Given the description of an element on the screen output the (x, y) to click on. 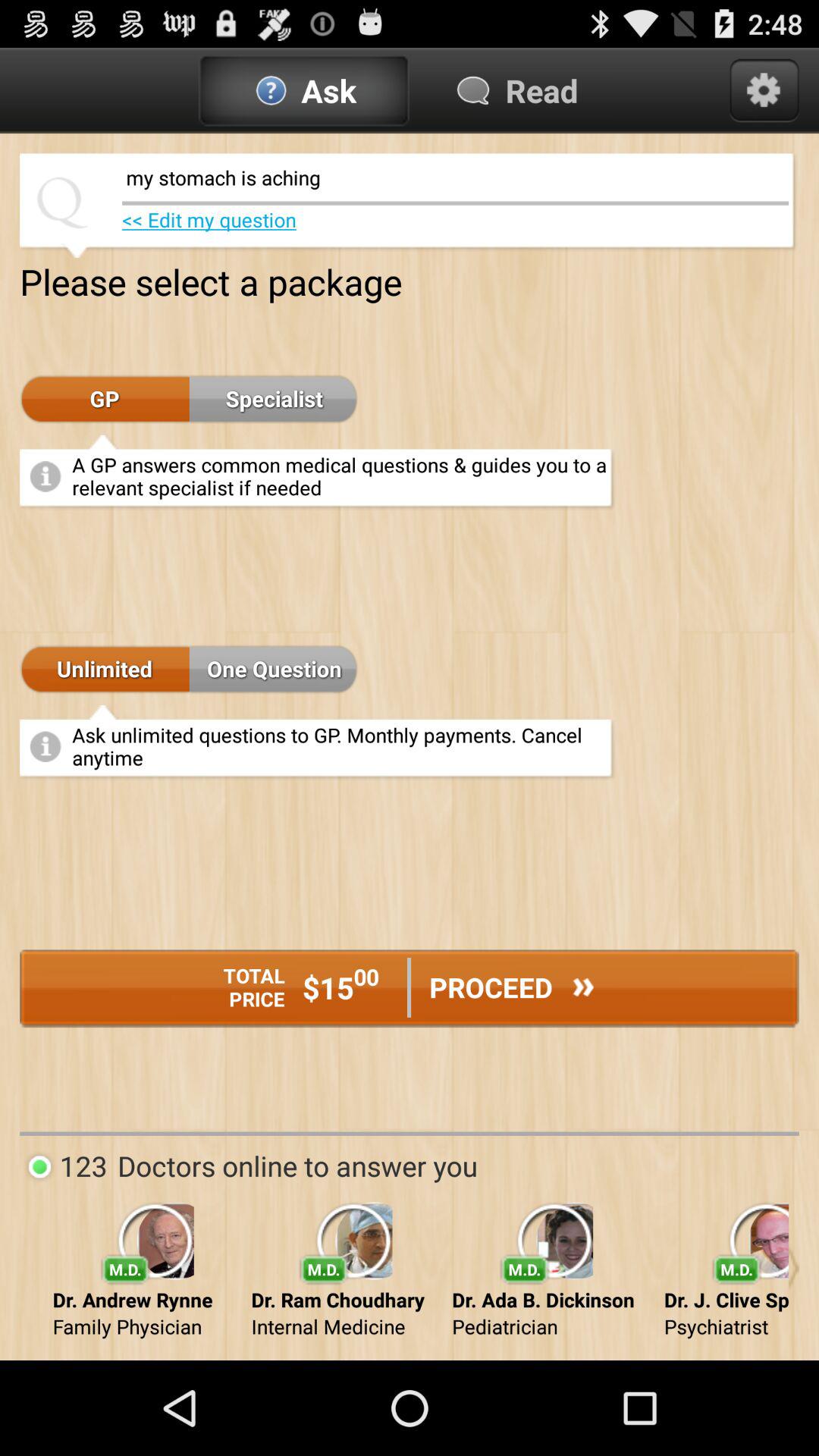
choose the app below the a gp answers app (273, 669)
